Given the description of an element on the screen output the (x, y) to click on. 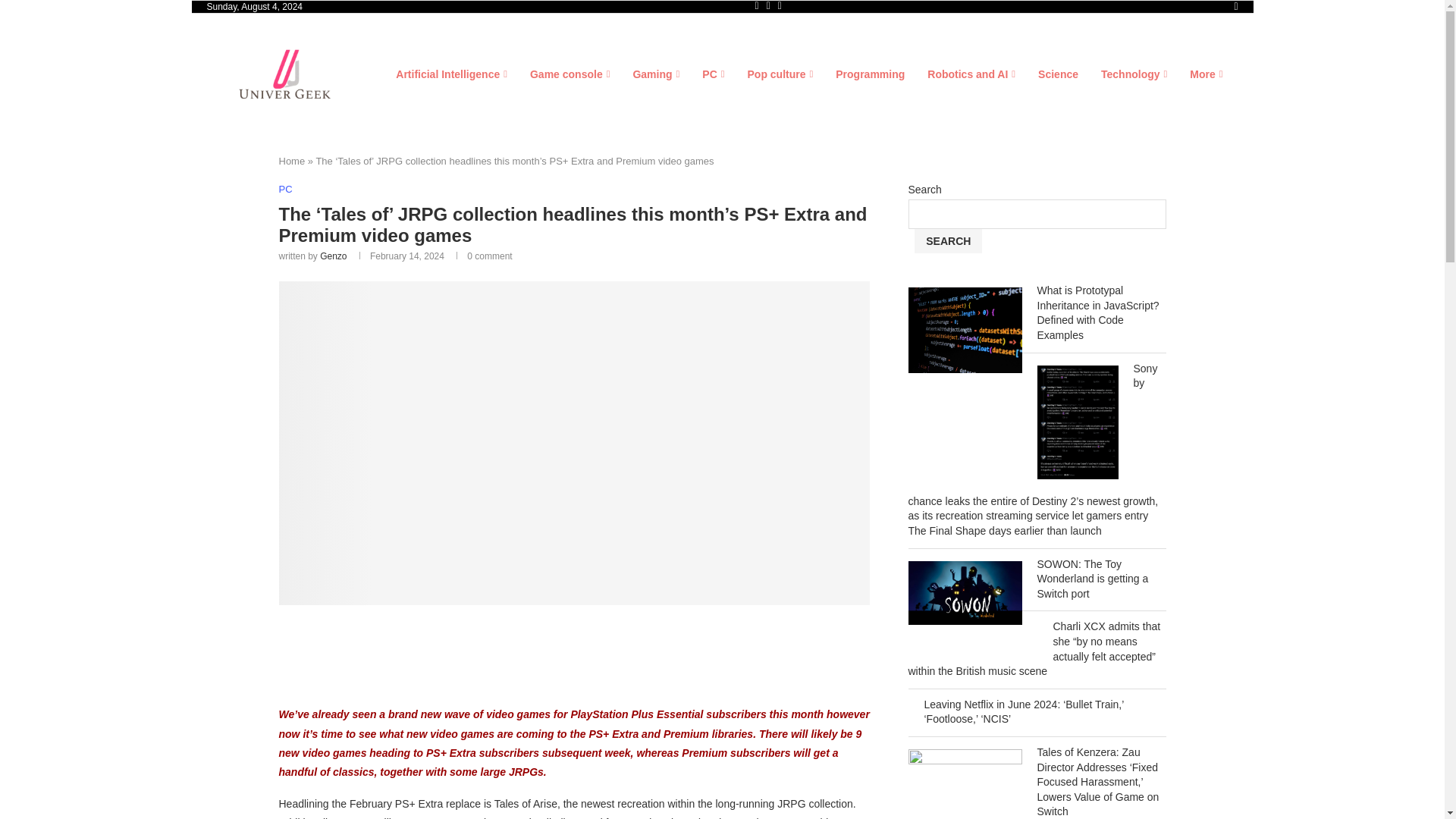
Artificial Intelligence (451, 74)
Game console (569, 74)
